Given the description of an element on the screen output the (x, y) to click on. 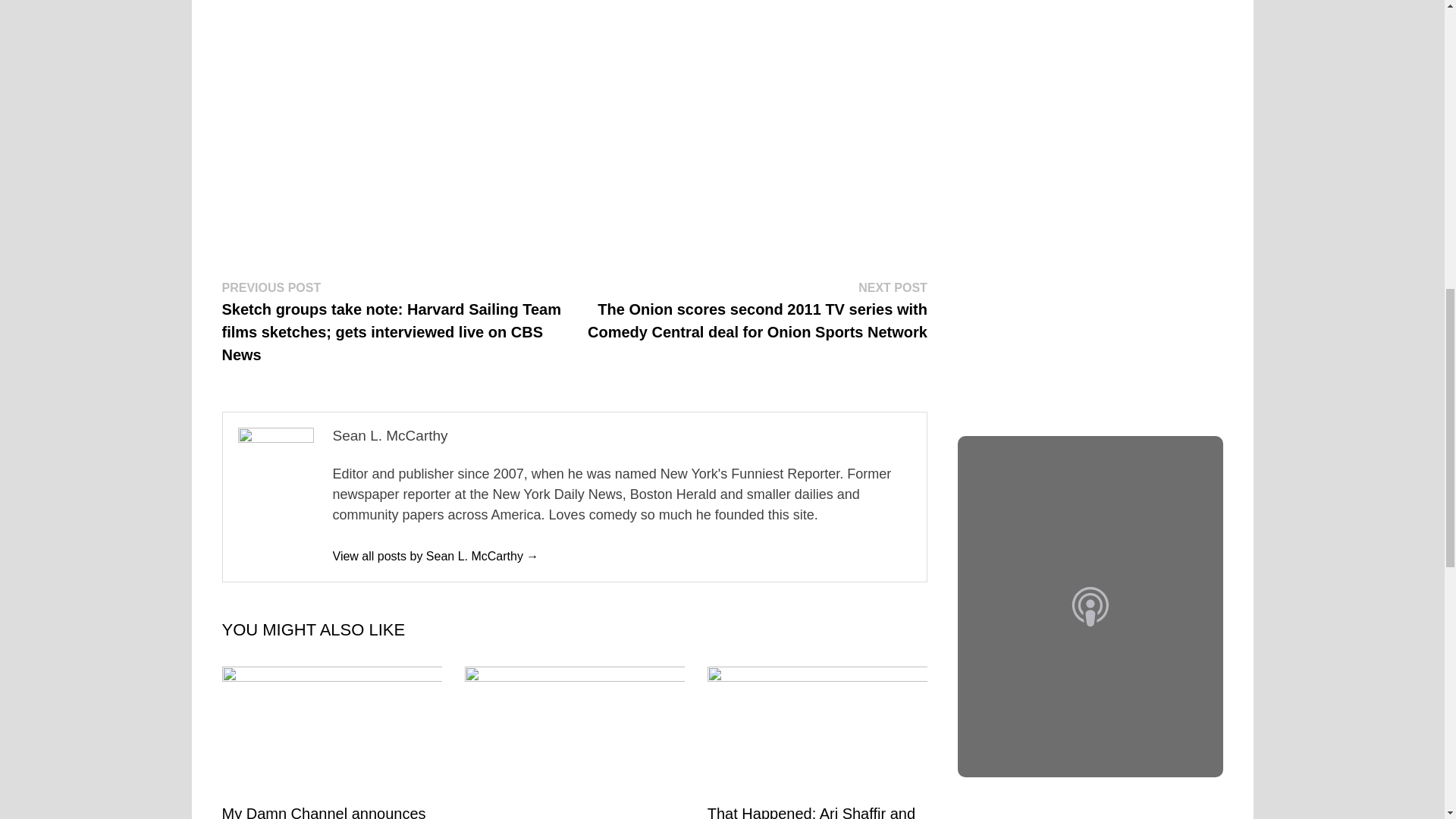
My Damn Channel announces plans for live YouTube channel (324, 812)
Sean L. McCarthy (434, 555)
My Damn Channel announces plans for live YouTube channel (324, 812)
